Given the description of an element on the screen output the (x, y) to click on. 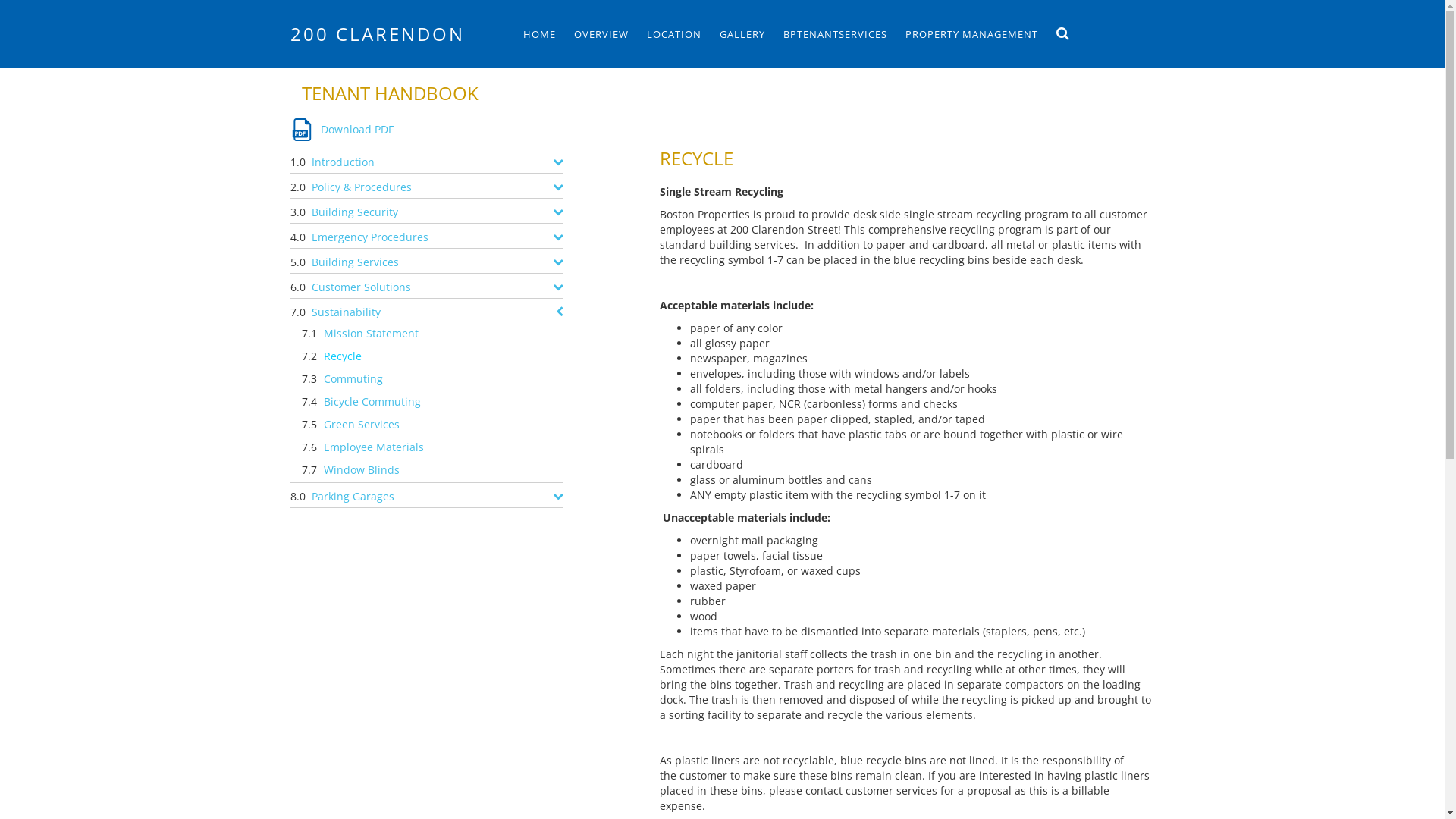
200 CLARENDON Element type: text (395, 33)
Green Services Element type: text (365, 425)
Commuting Element type: text (357, 379)
Recycle Element type: text (346, 356)
Customer Solutions Element type: text (364, 285)
Download PDF Element type: text (340, 129)
Mission Statement Element type: text (374, 334)
Bicycle Commuting Element type: text (376, 402)
Introduction Element type: text (346, 160)
Parking Garages Element type: text (355, 495)
Sustainability Element type: text (349, 310)
Emergency Procedures Element type: text (373, 235)
GALLERY Element type: text (741, 33)
Employee Materials Element type: text (377, 447)
Policy & Procedures Element type: text (364, 185)
BPTENANTSERVICES Element type: text (834, 33)
PROPERTY MANAGEMENT Element type: text (971, 33)
Building Security Element type: text (357, 210)
HOME Element type: text (539, 33)
Window Blinds Element type: text (365, 470)
LOCATION Element type: text (673, 33)
OVERVIEW Element type: text (600, 33)
Building Services Element type: text (358, 260)
